Given the description of an element on the screen output the (x, y) to click on. 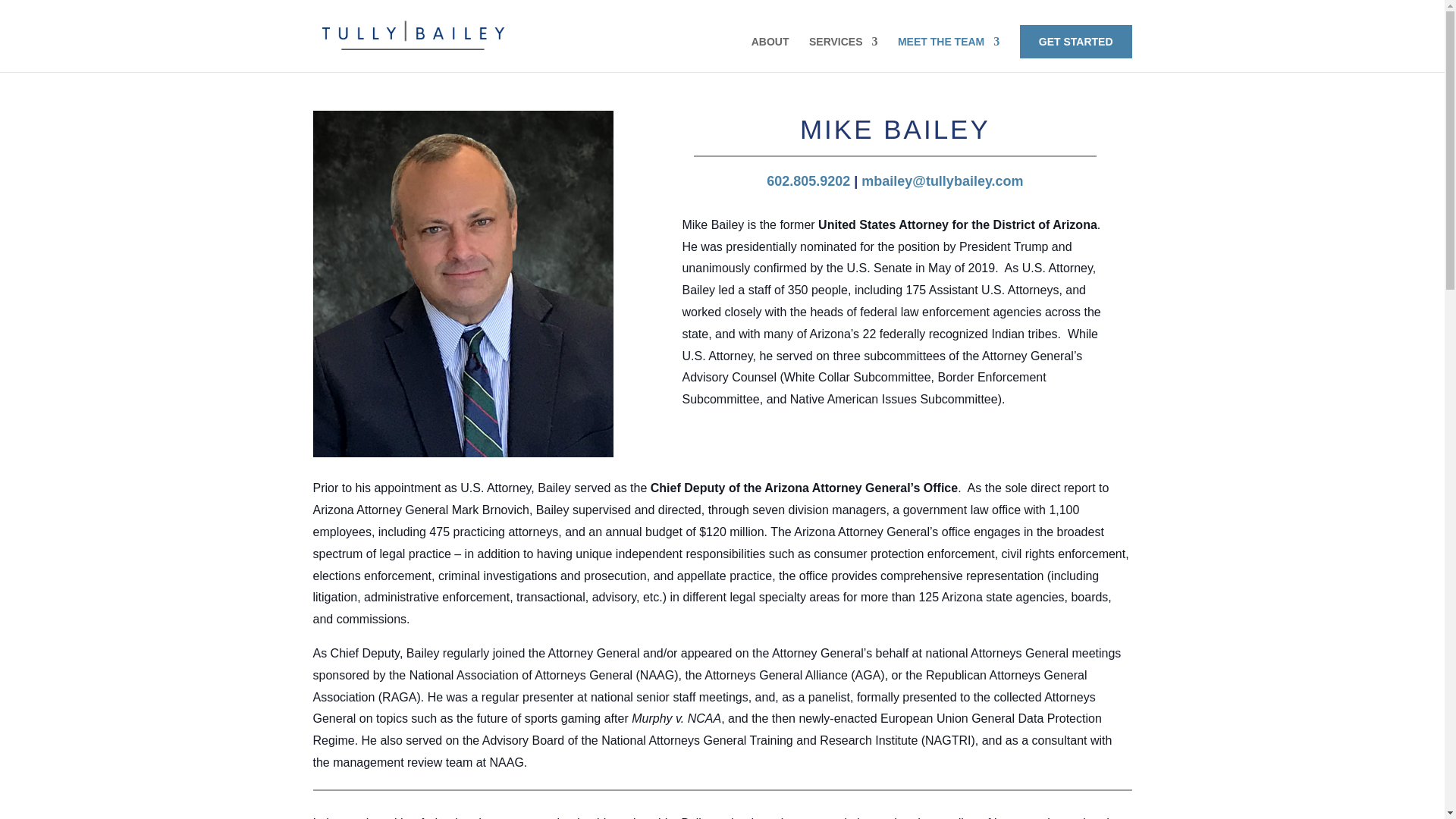
602.805.9202 (808, 181)
GET STARTED (1076, 41)
ABOUT (770, 54)
MEET THE TEAM (948, 54)
SERVICES (843, 54)
